Given the description of an element on the screen output the (x, y) to click on. 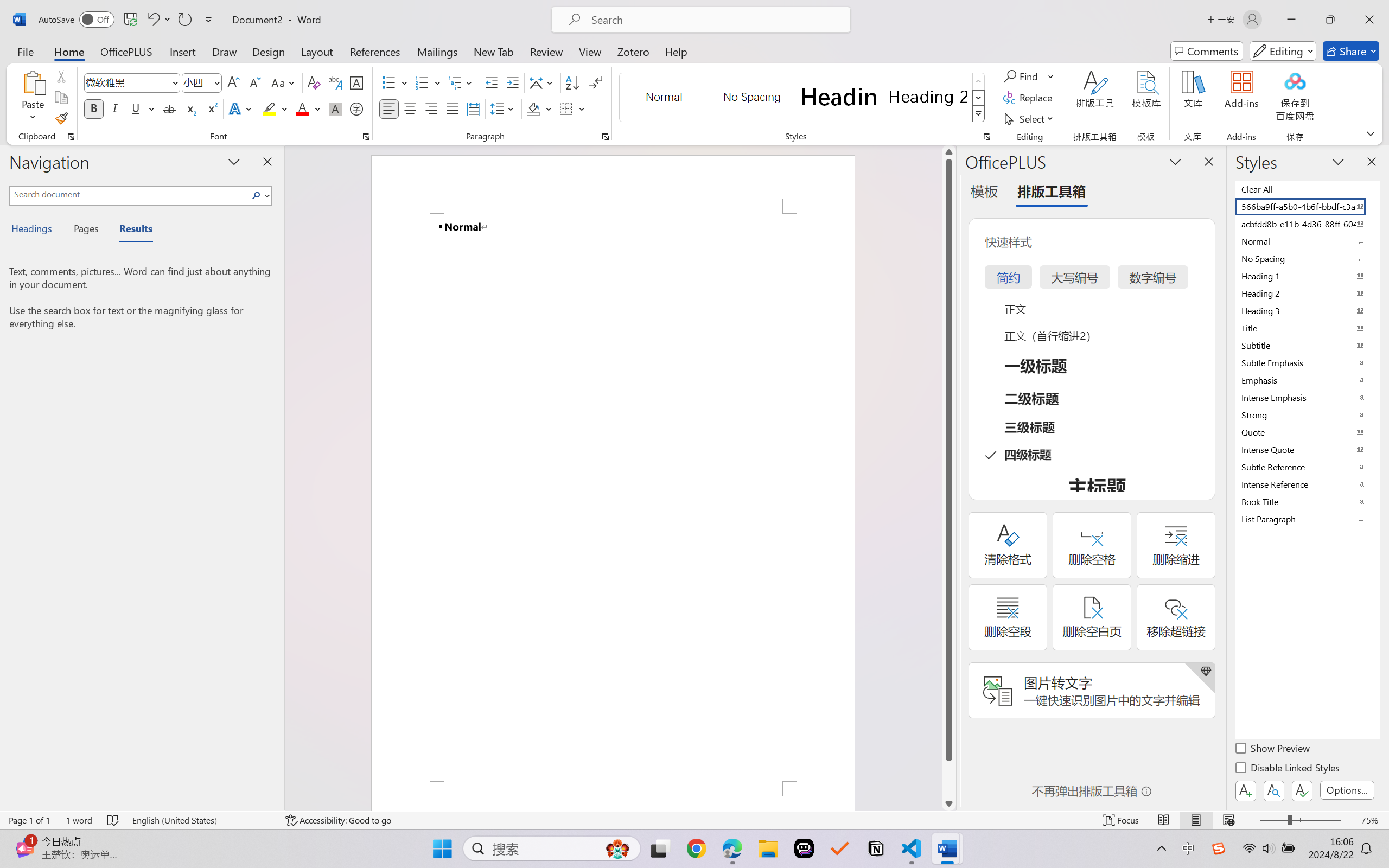
Shrink Font (253, 82)
Zoom Out (1273, 819)
Search (259, 195)
Language English (United States) (201, 819)
